Given the description of an element on the screen output the (x, y) to click on. 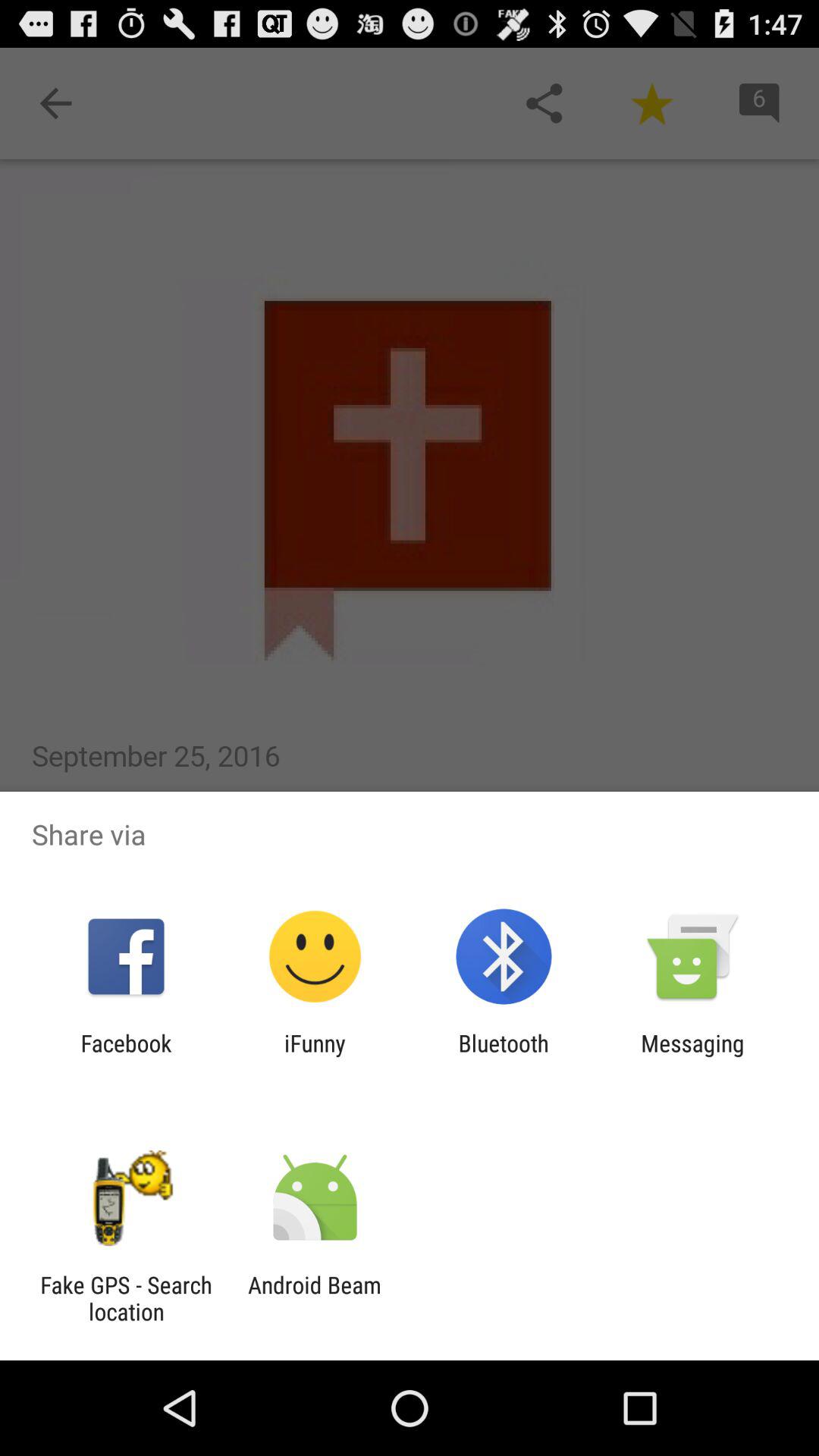
launch the app to the left of the ifunny item (125, 1056)
